Given the description of an element on the screen output the (x, y) to click on. 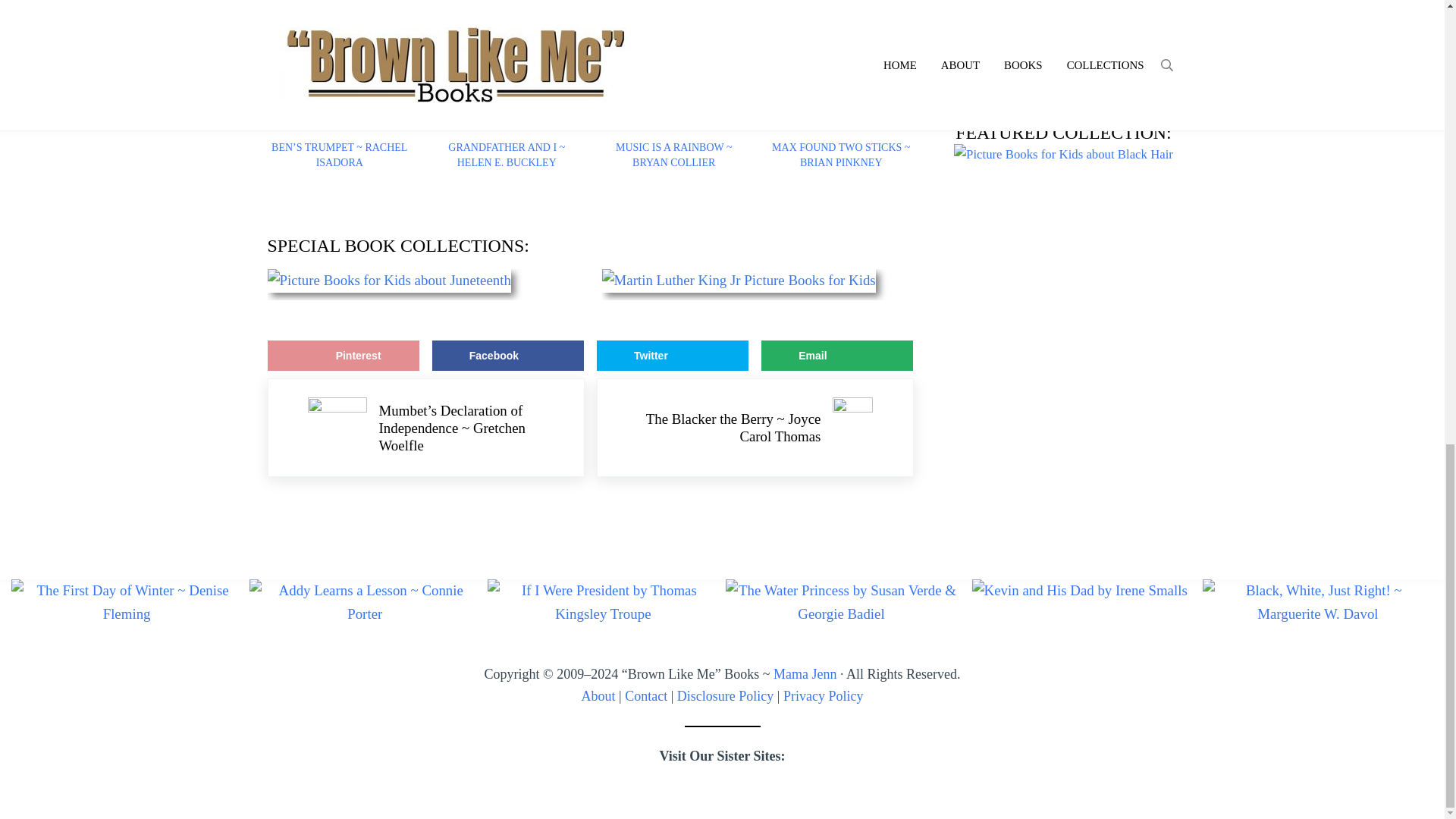
Share on Facebook (507, 355)
Send over email (836, 355)
Share on Twitter (672, 355)
Save to Pinterest (342, 355)
